Given the description of an element on the screen output the (x, y) to click on. 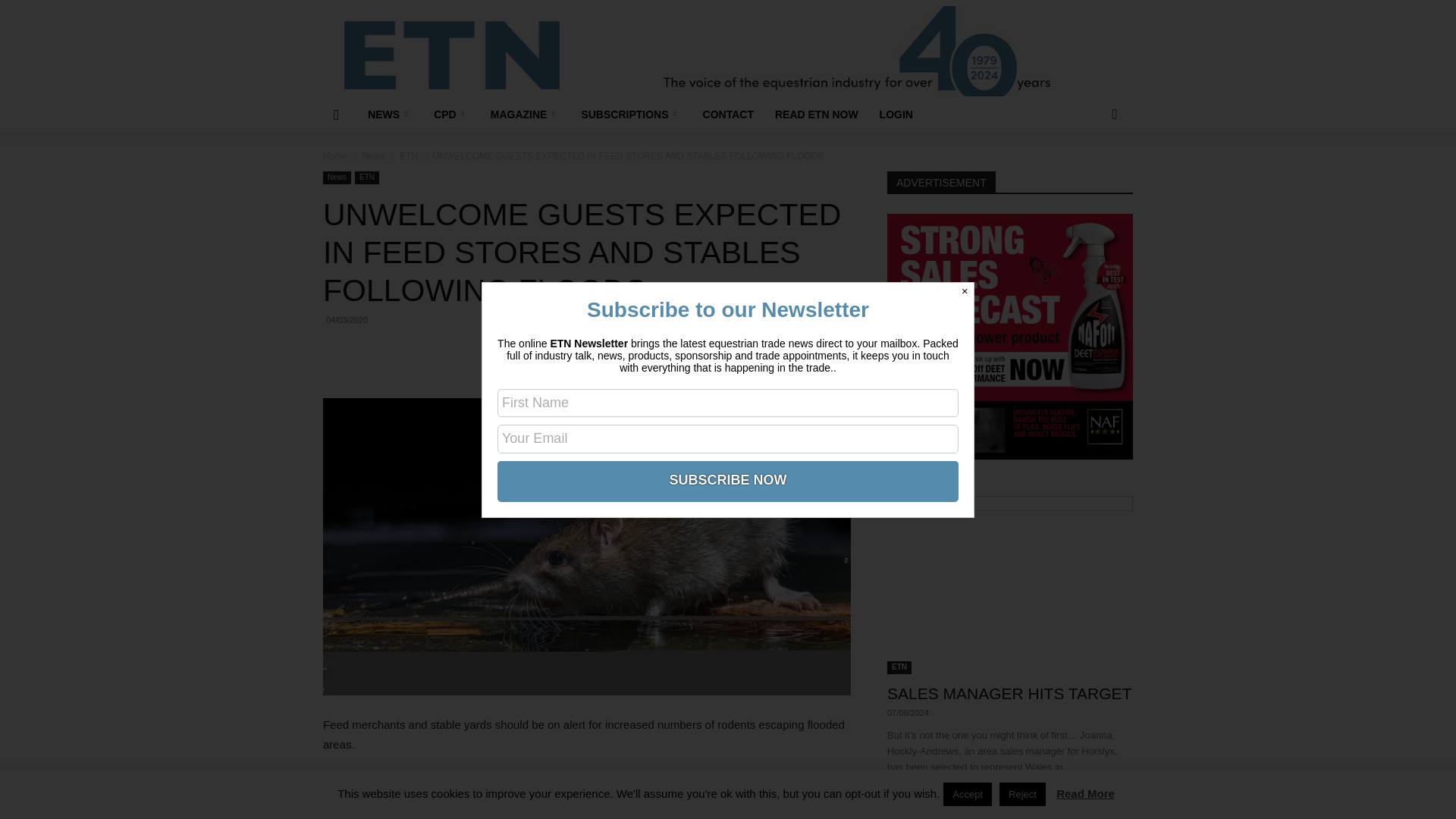
NEWS (389, 114)
EQUESTRIAN TRADE NEWS (451, 55)
SUBSCRIBE NOW (727, 479)
